Given the description of an element on the screen output the (x, y) to click on. 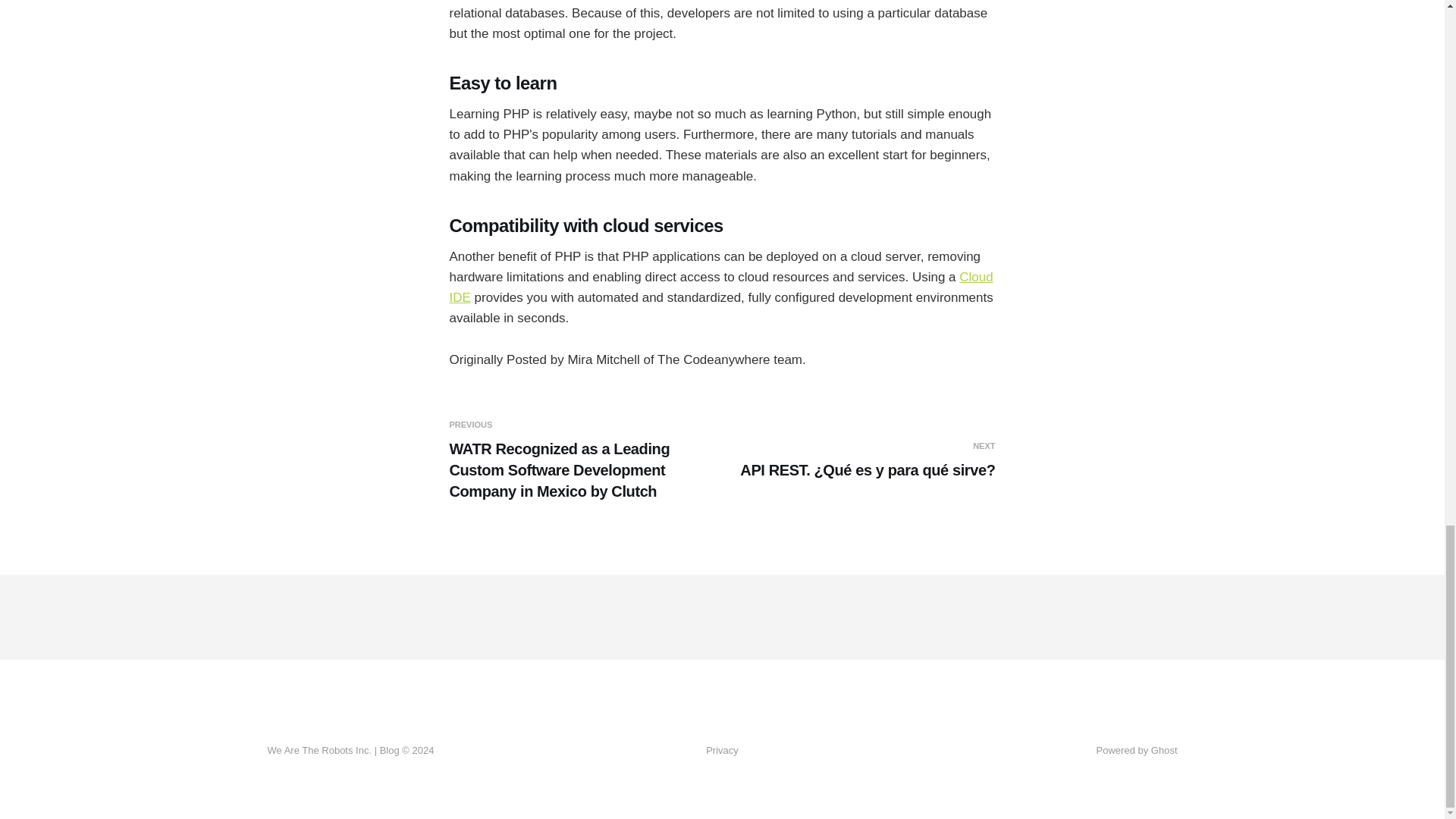
Cloud IDE (720, 287)
Powered by Ghost (1136, 749)
Privacy (722, 750)
